Given the description of an element on the screen output the (x, y) to click on. 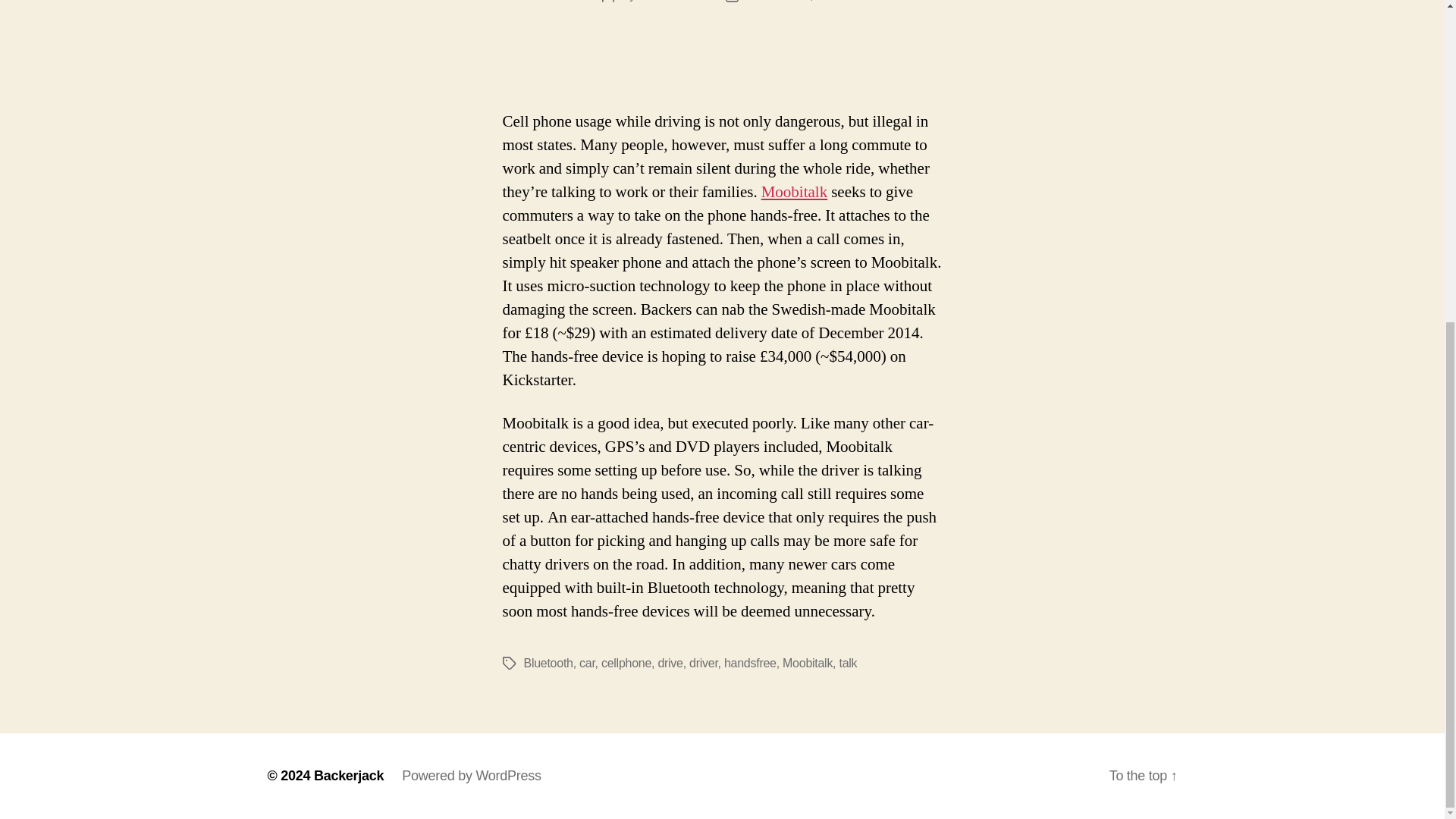
November 2, 2014 (794, 0)
car (587, 662)
Julia Herrick (671, 0)
driver (702, 662)
Bluetooth (547, 662)
Moobitalk (807, 662)
drive (670, 662)
Backerjack (349, 775)
talk (847, 662)
Powered by WordPress (470, 775)
